Given the description of an element on the screen output the (x, y) to click on. 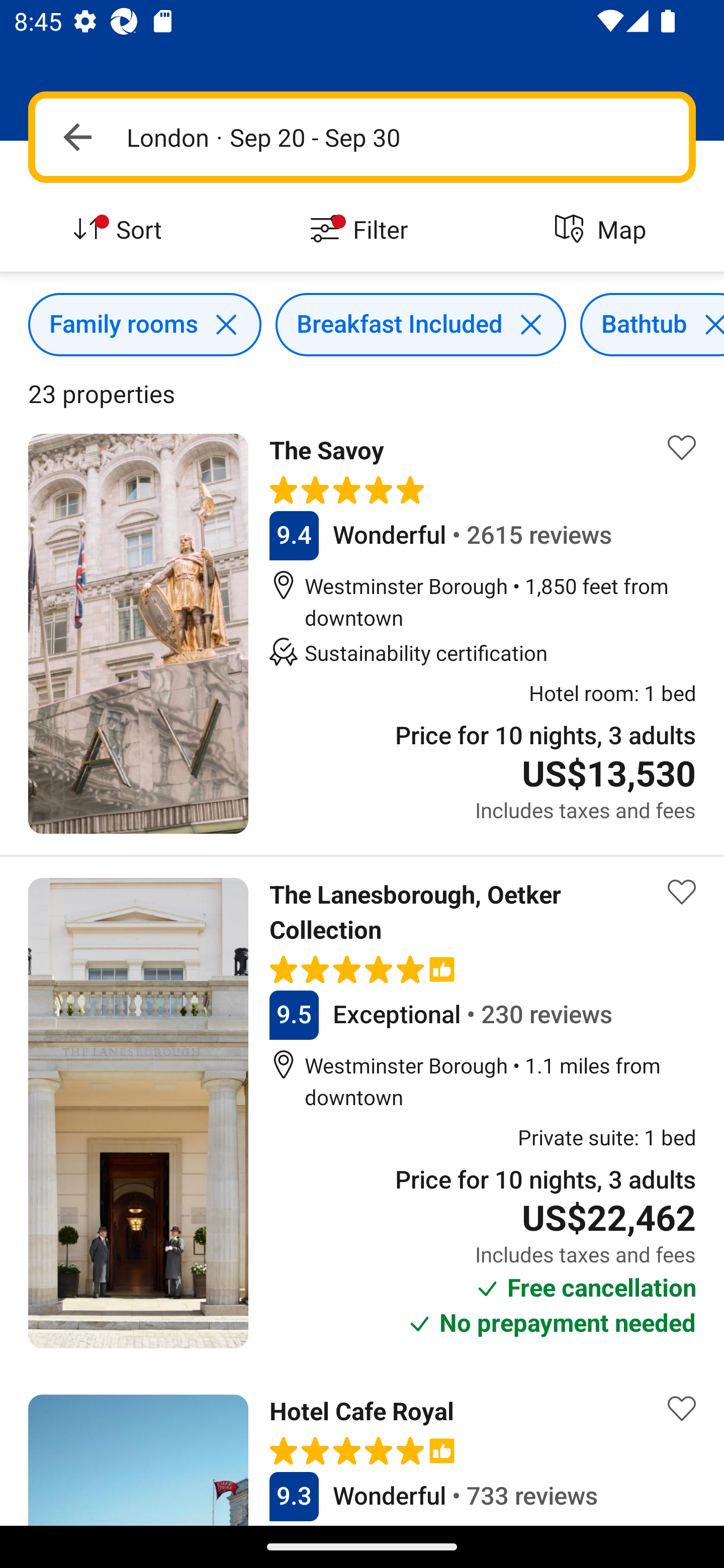
Navigate up London · Sep 20 - Sep 30 (362, 136)
Navigate up (77, 136)
Sort (120, 230)
Filter (361, 230)
Map (603, 230)
Save property to list (681, 447)
Save property to list (681, 891)
Save property to list (681, 1407)
